Given the description of an element on the screen output the (x, y) to click on. 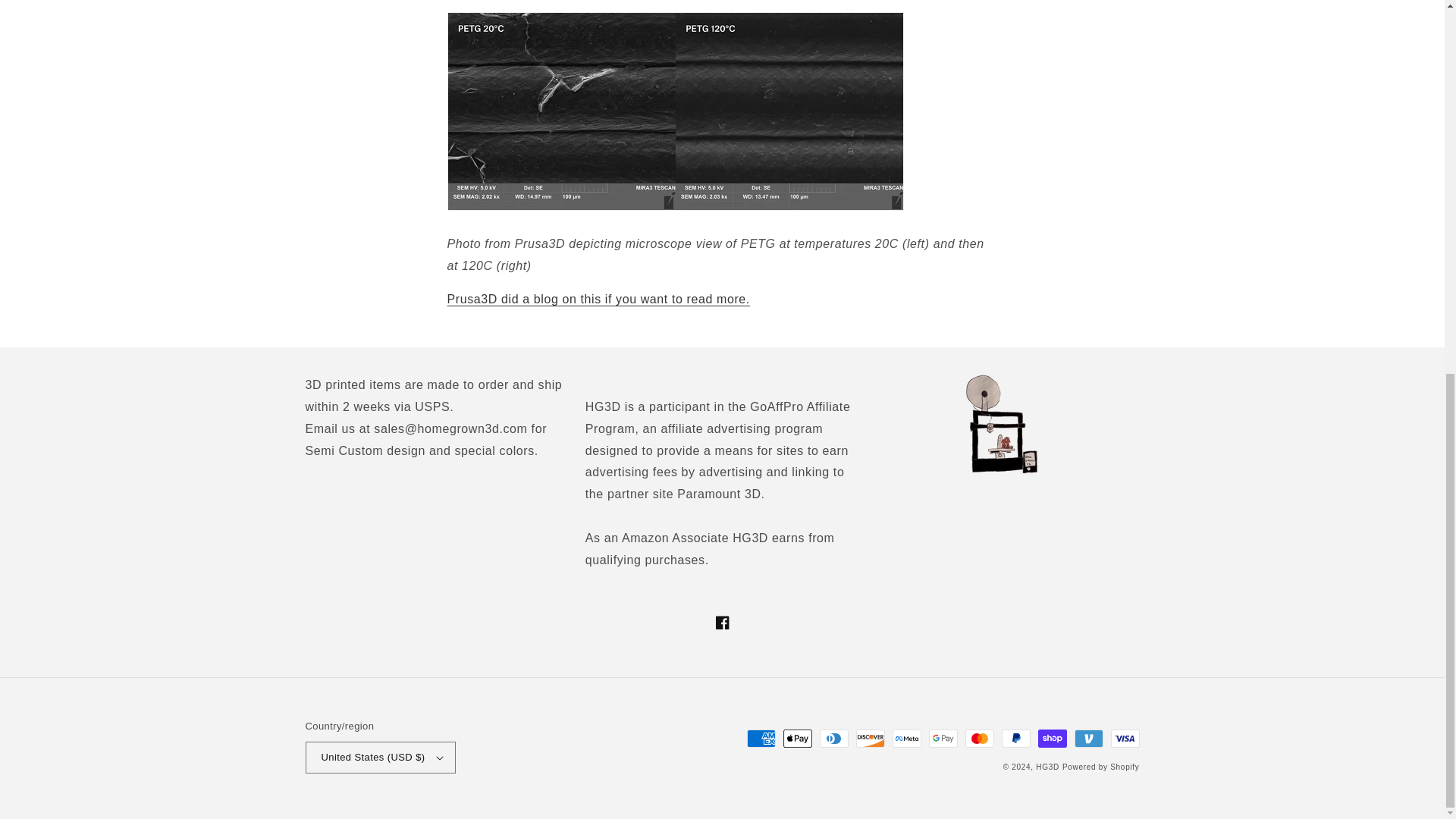
Prusa3D did a blog on this if you want to read more. (597, 298)
Facebook (721, 622)
